Given the description of an element on the screen output the (x, y) to click on. 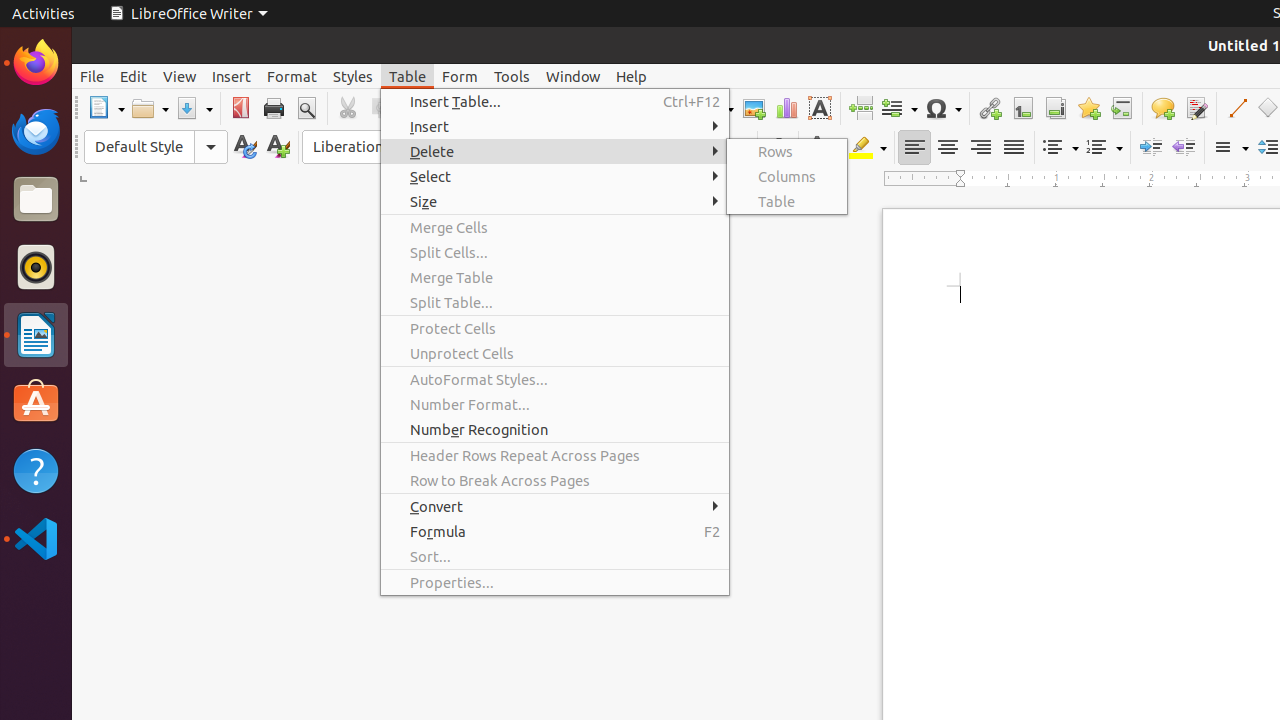
Left Element type: toggle-button (914, 147)
Files Element type: push-button (36, 199)
LibreOffice Writer Element type: push-button (36, 334)
Right Element type: toggle-button (980, 147)
New Element type: push-button (277, 147)
